Given the description of an element on the screen output the (x, y) to click on. 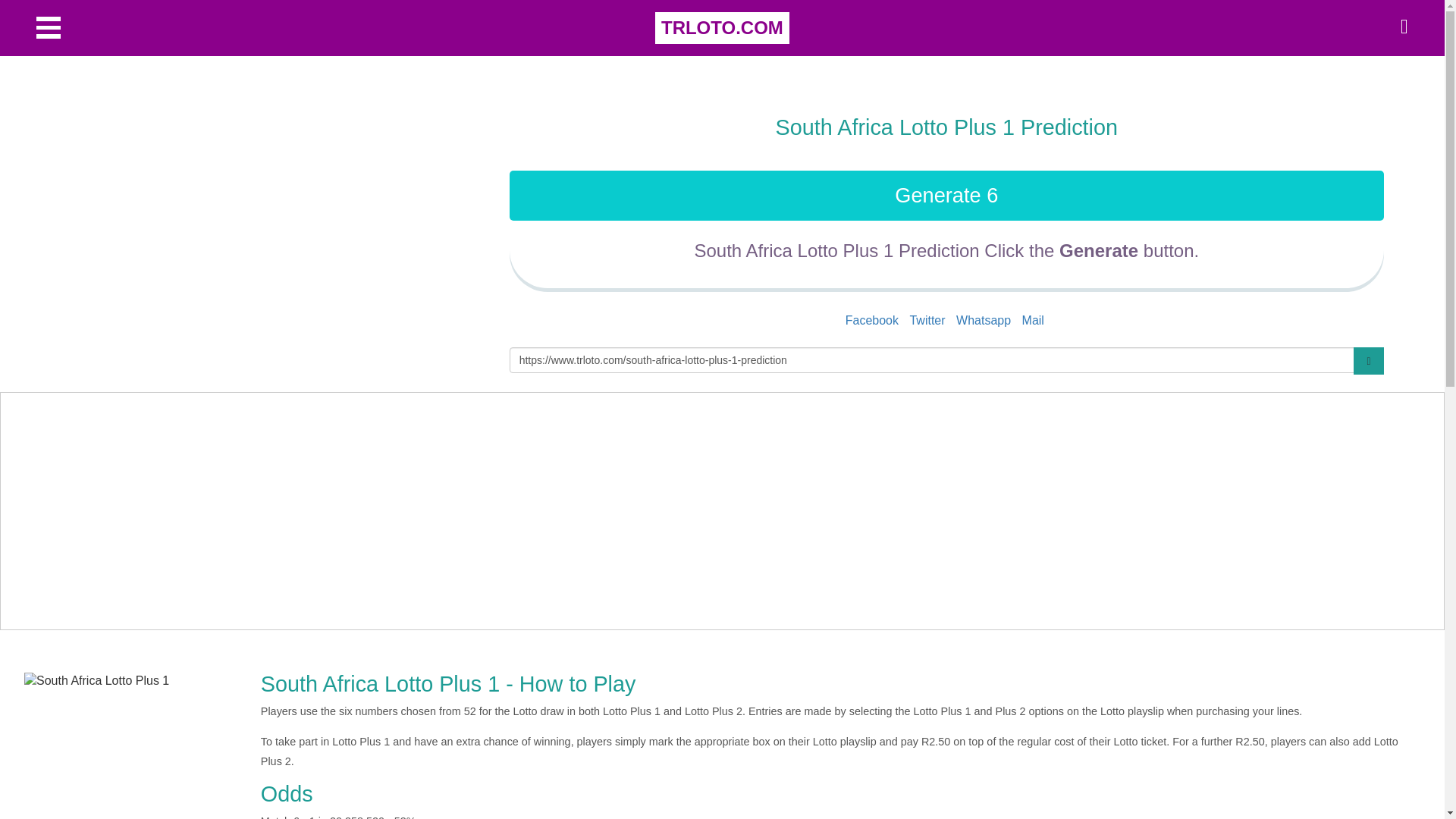
O (48, 26)
Twitter (926, 319)
Mail (1032, 319)
TRLOTO.COM (722, 28)
Generate 6 (946, 195)
Advertisement (273, 191)
Facebook (871, 319)
Whatsapp (983, 319)
